Given the description of an element on the screen output the (x, y) to click on. 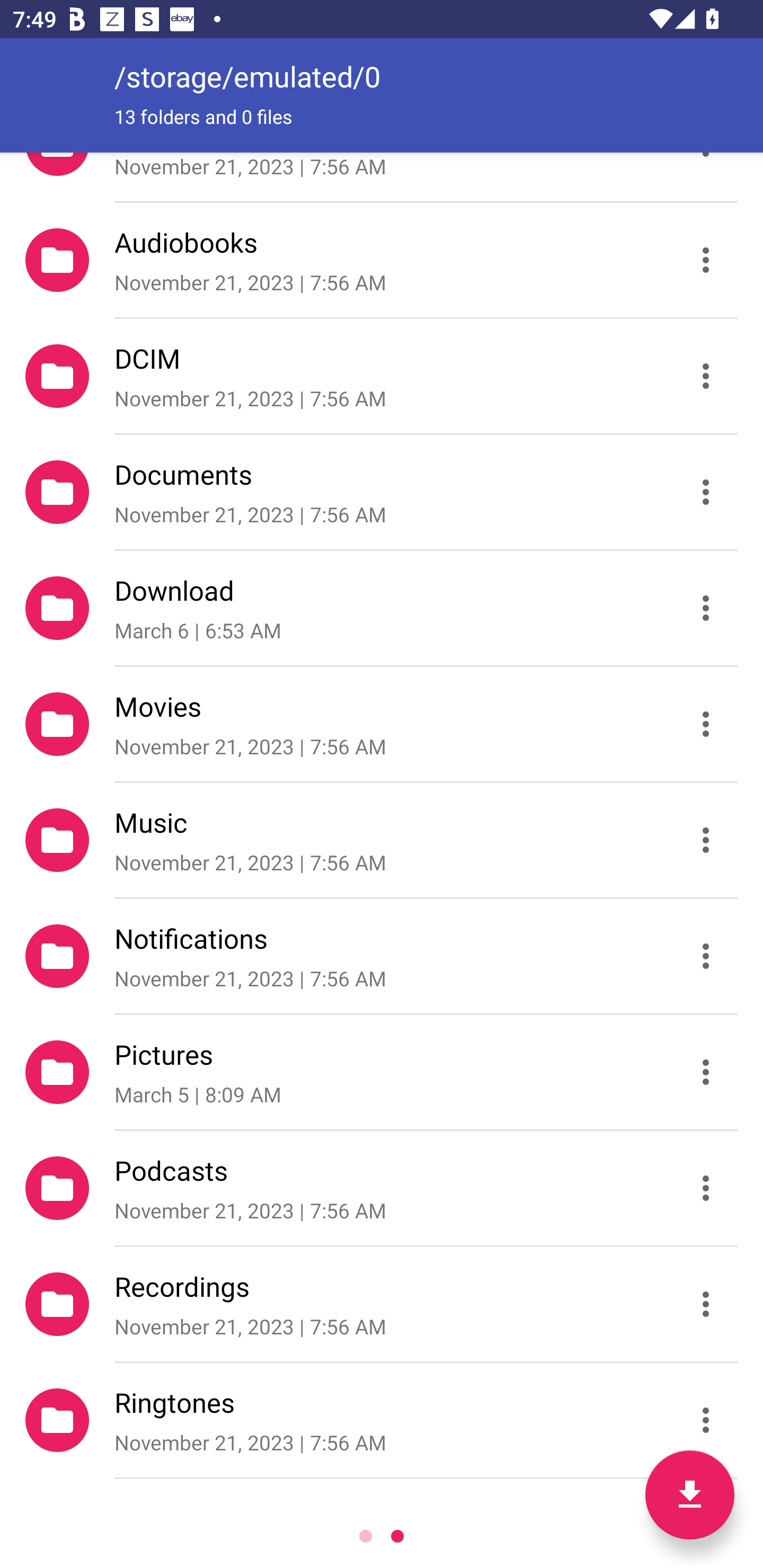
Audiobooks November 21, 2023 | 7:56 AM (381, 259)
DCIM November 21, 2023 | 7:56 AM (381, 375)
Documents November 21, 2023 | 7:56 AM (381, 491)
Download March 6 | 6:53 AM (381, 607)
Movies November 21, 2023 | 7:56 AM (381, 723)
Music November 21, 2023 | 7:56 AM (381, 839)
Notifications November 21, 2023 | 7:56 AM (381, 955)
Pictures March 5 | 8:09 AM (381, 1071)
Podcasts November 21, 2023 | 7:56 AM (381, 1187)
Recordings November 21, 2023 | 7:56 AM (381, 1303)
Ringtones November 21, 2023 | 7:56 AM (381, 1419)
